Given the description of an element on the screen output the (x, y) to click on. 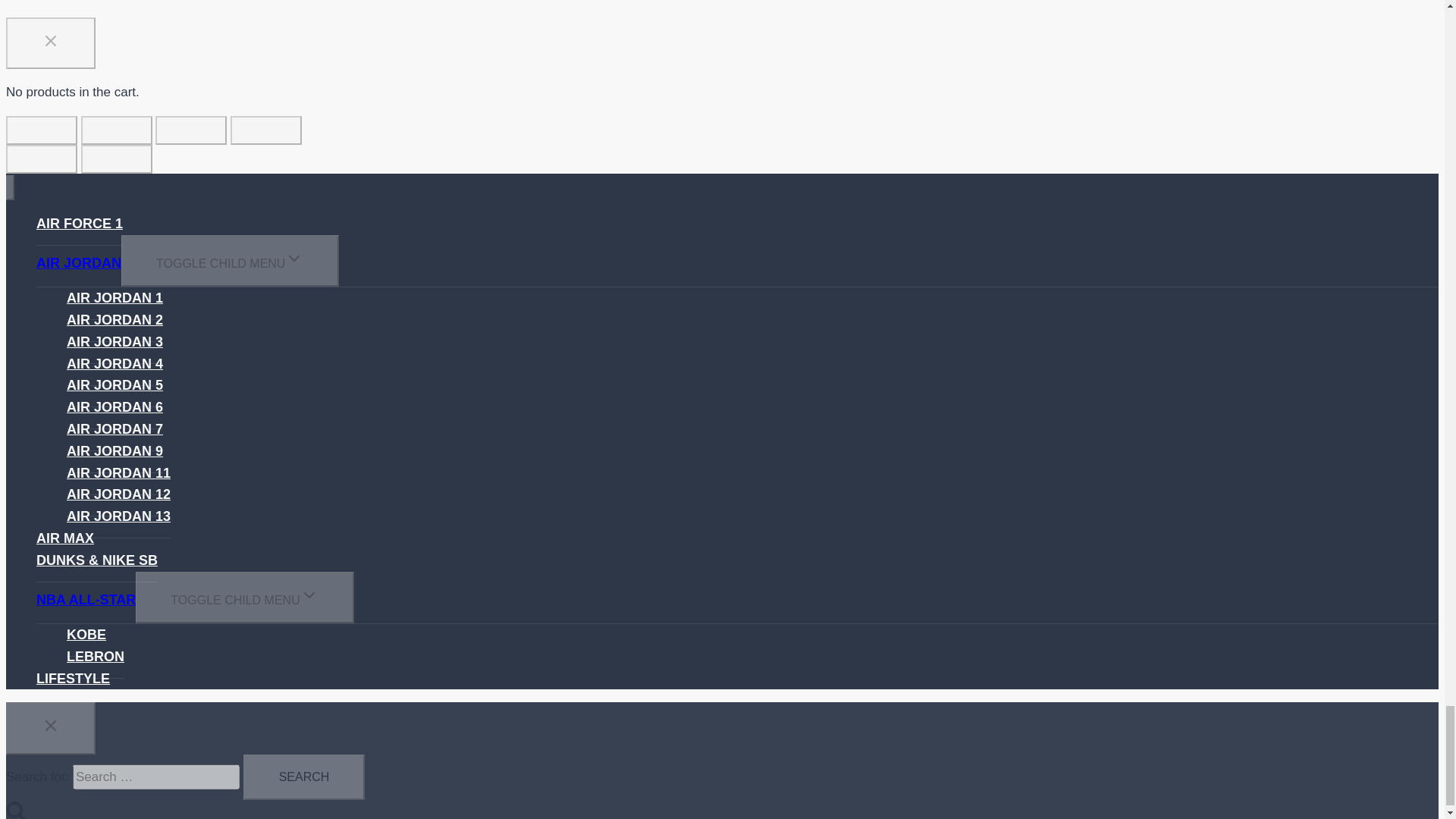
Search (304, 777)
Search (304, 777)
